Given the description of an element on the screen output the (x, y) to click on. 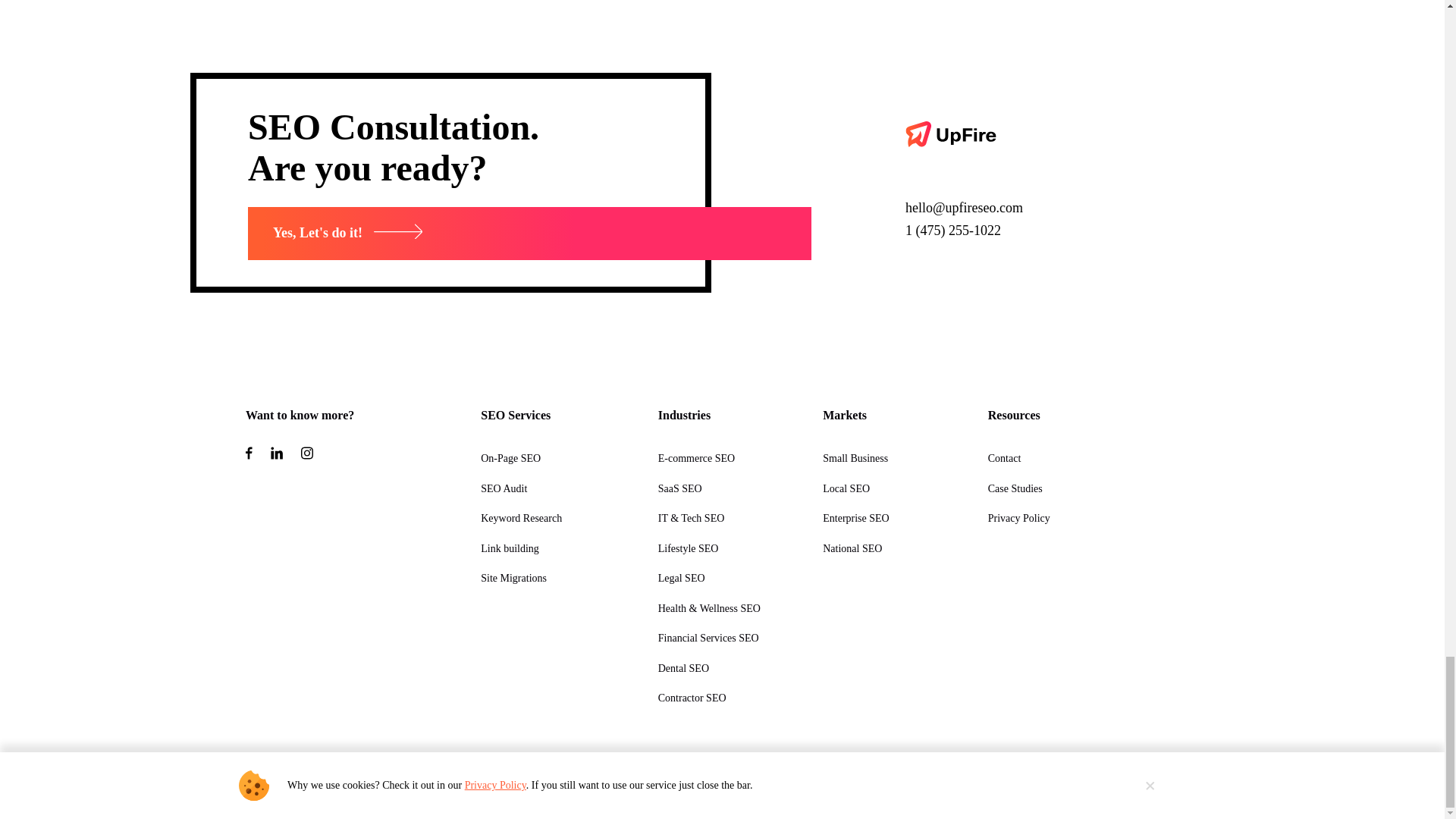
Site Migrations (513, 577)
E-commerce SEO (696, 458)
SEO Audit (503, 488)
SaaS SEO (679, 488)
Keyword Research (521, 518)
On-Page SEO (510, 458)
Link building (509, 548)
Yes, Let's do it! (528, 233)
